Given the description of an element on the screen output the (x, y) to click on. 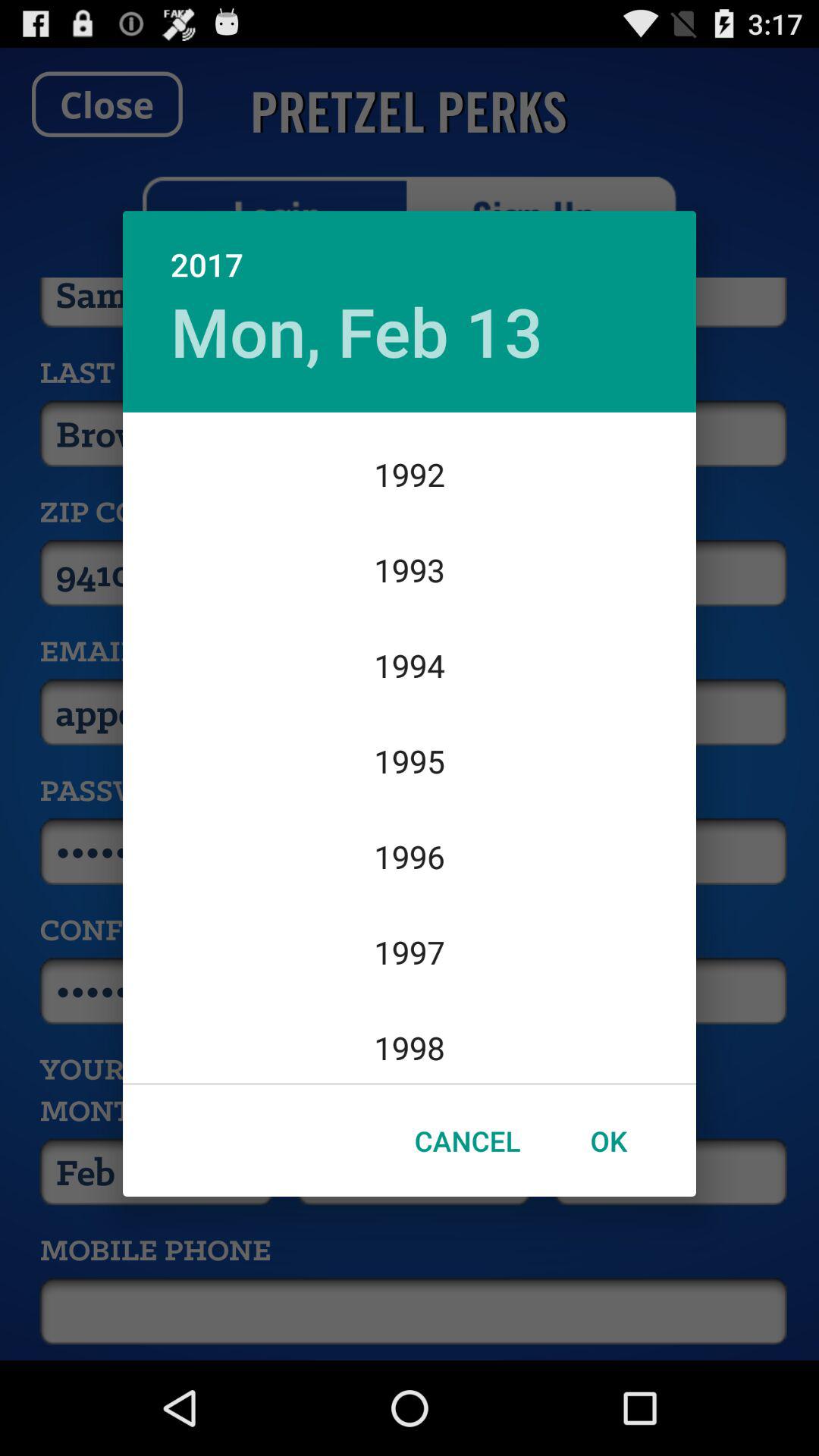
jump to the mon, feb 13 (356, 331)
